Given the description of an element on the screen output the (x, y) to click on. 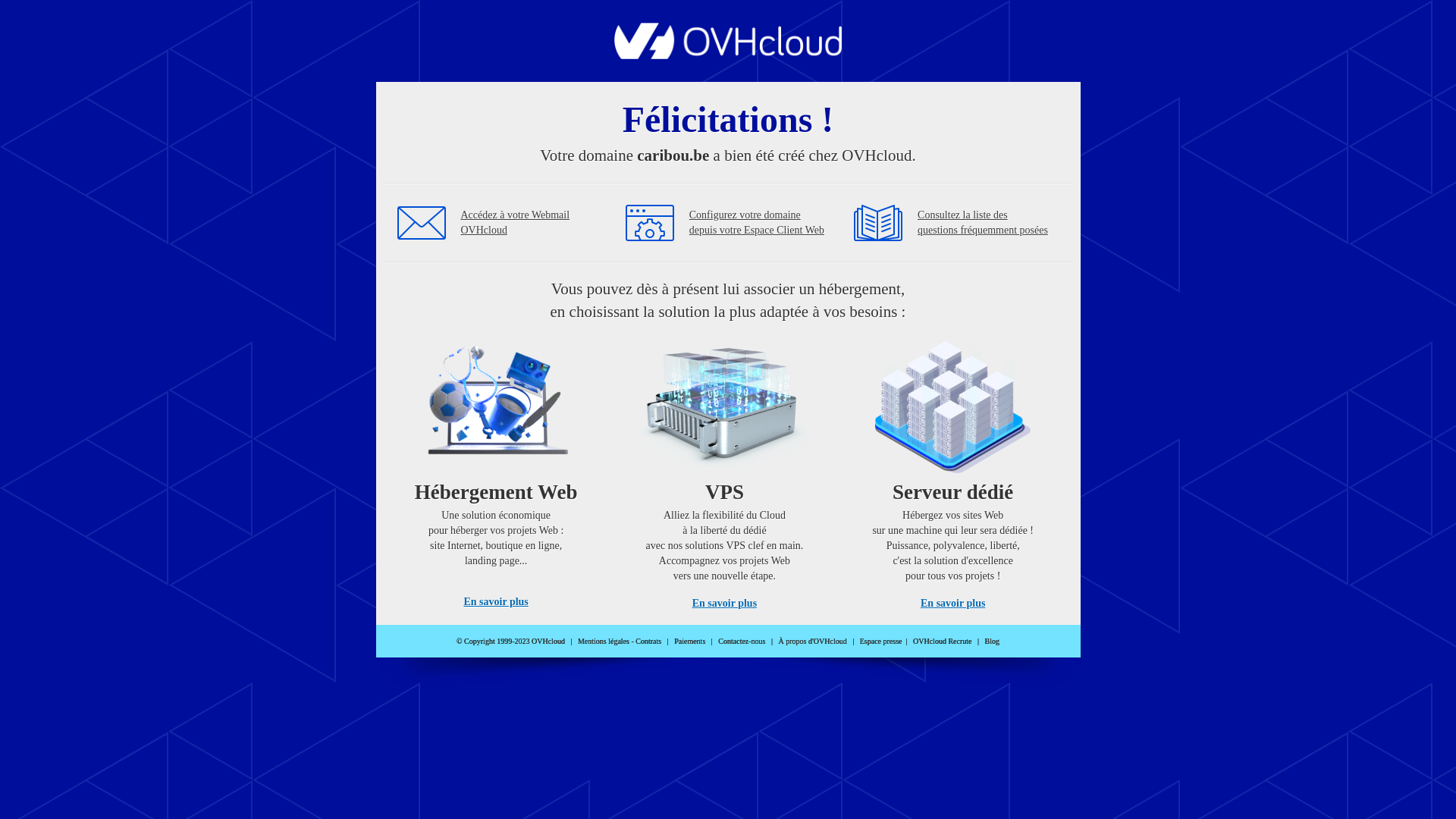
En savoir plus Element type: text (724, 602)
Contactez-nous Element type: text (741, 641)
Paiements Element type: text (689, 641)
En savoir plus Element type: text (952, 602)
Espace presse Element type: text (880, 641)
OVHcloud Recrute Element type: text (942, 641)
En savoir plus Element type: text (495, 601)
VPS Element type: hover (724, 469)
OVHcloud Element type: hover (727, 54)
Blog Element type: text (992, 641)
Configurez votre domaine
depuis votre Espace Client Web Element type: text (756, 222)
